Given the description of an element on the screen output the (x, y) to click on. 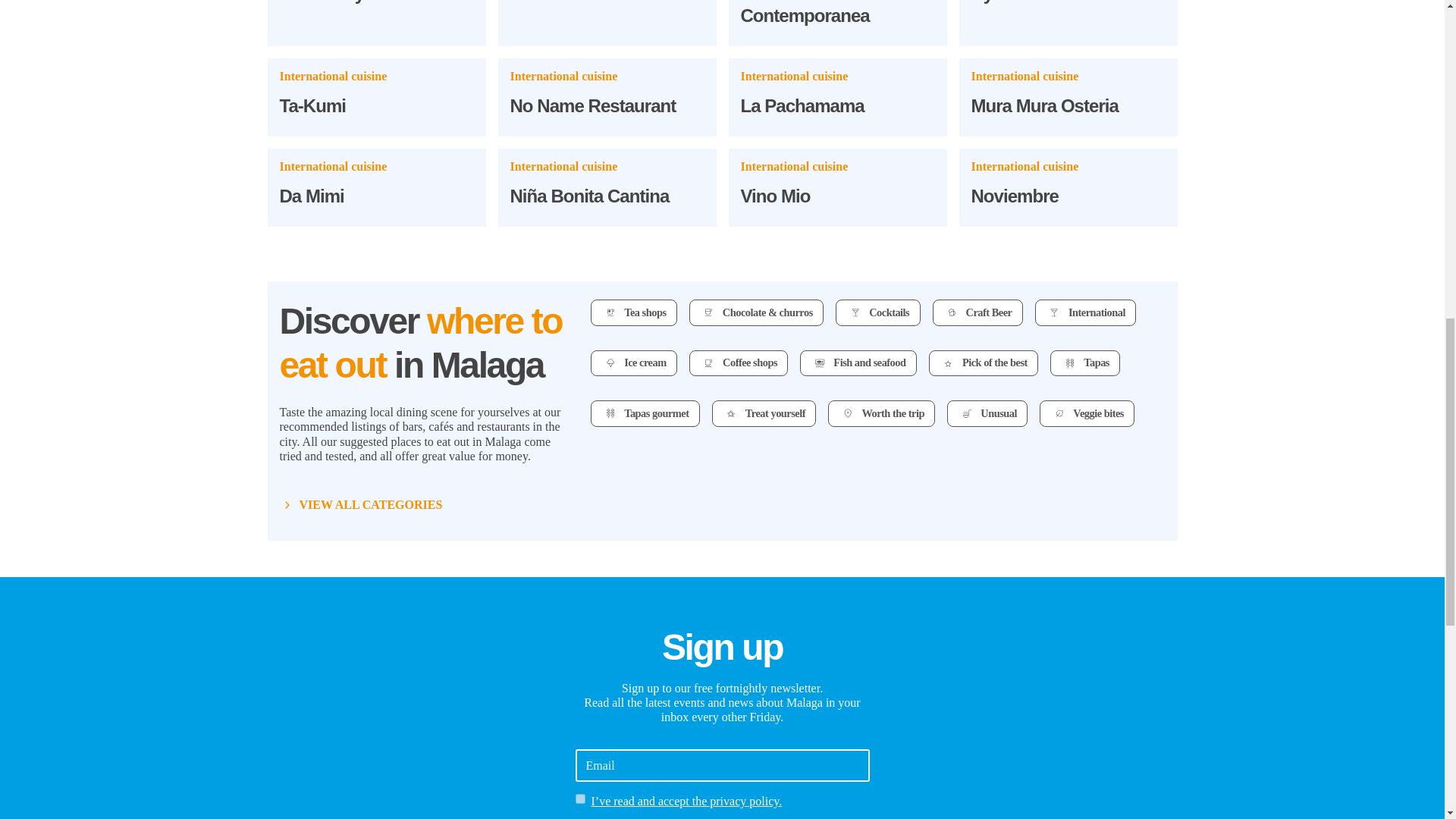
accept (580, 798)
